Given the description of an element on the screen output the (x, y) to click on. 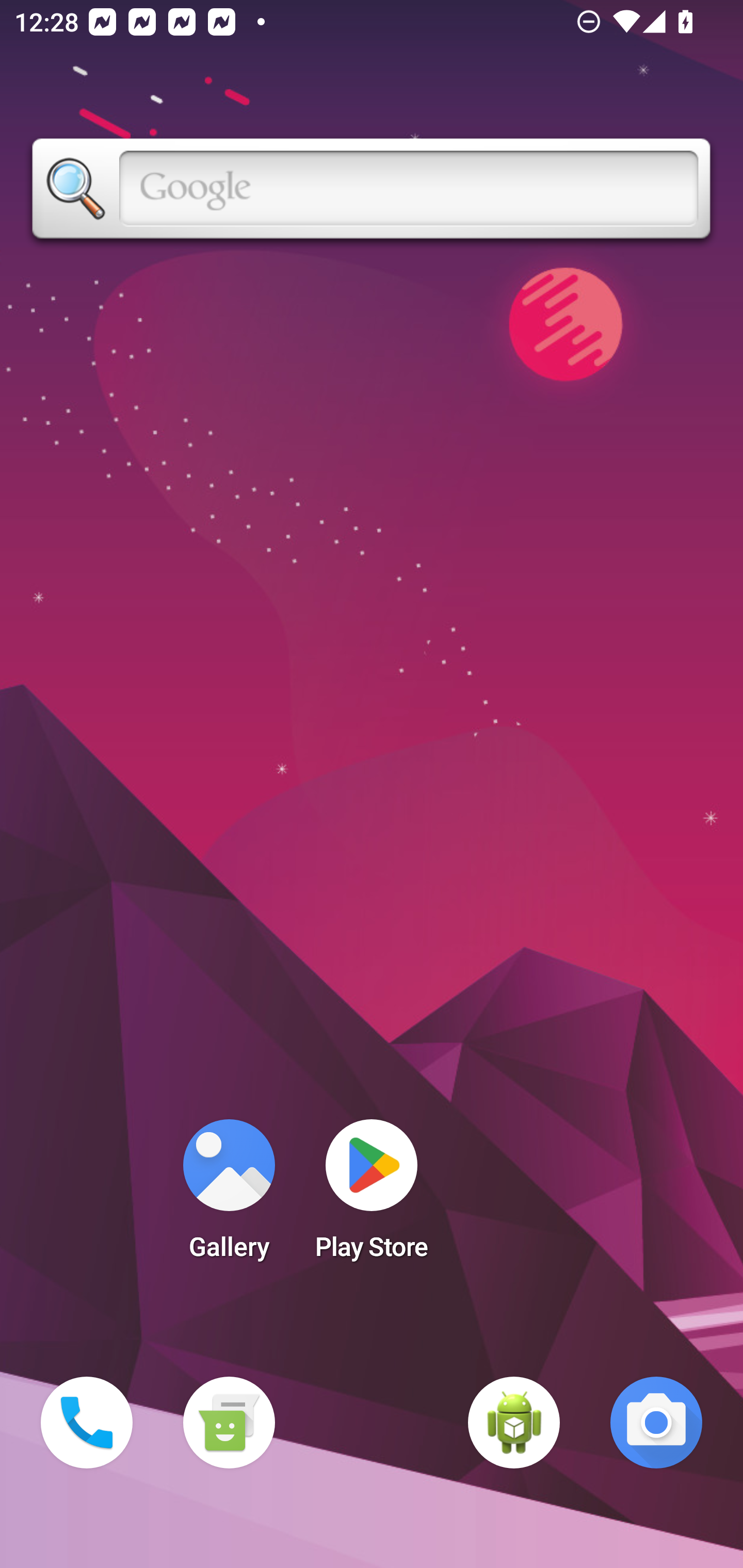
Gallery (228, 1195)
Play Store (371, 1195)
Phone (86, 1422)
Messaging (228, 1422)
WebView Browser Tester (513, 1422)
Camera (656, 1422)
